Given the description of an element on the screen output the (x, y) to click on. 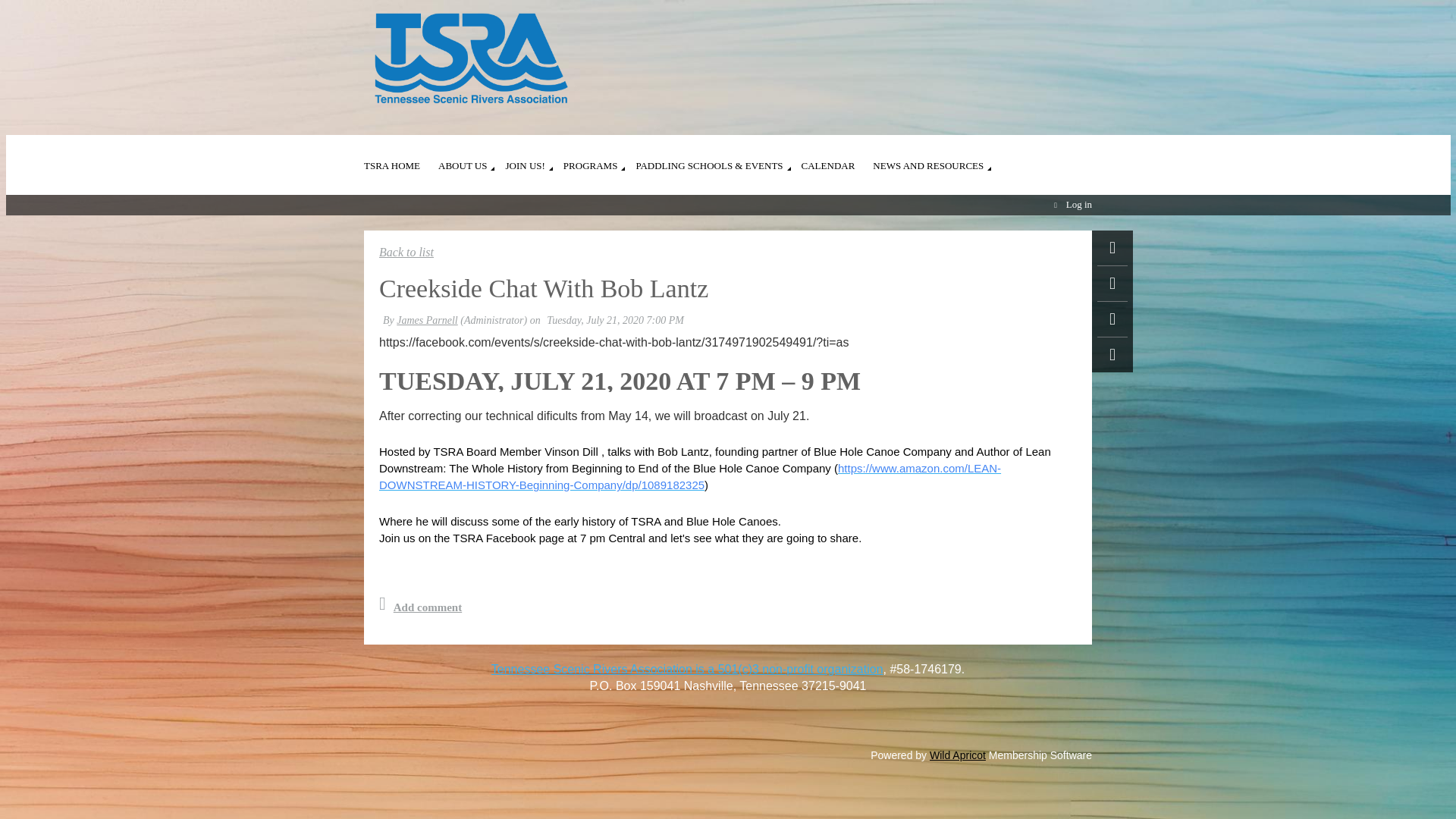
PROGRAMS (599, 157)
JOIN US! (533, 157)
TSRA HOME (401, 157)
ABOUT US (471, 157)
